Given the description of an element on the screen output the (x, y) to click on. 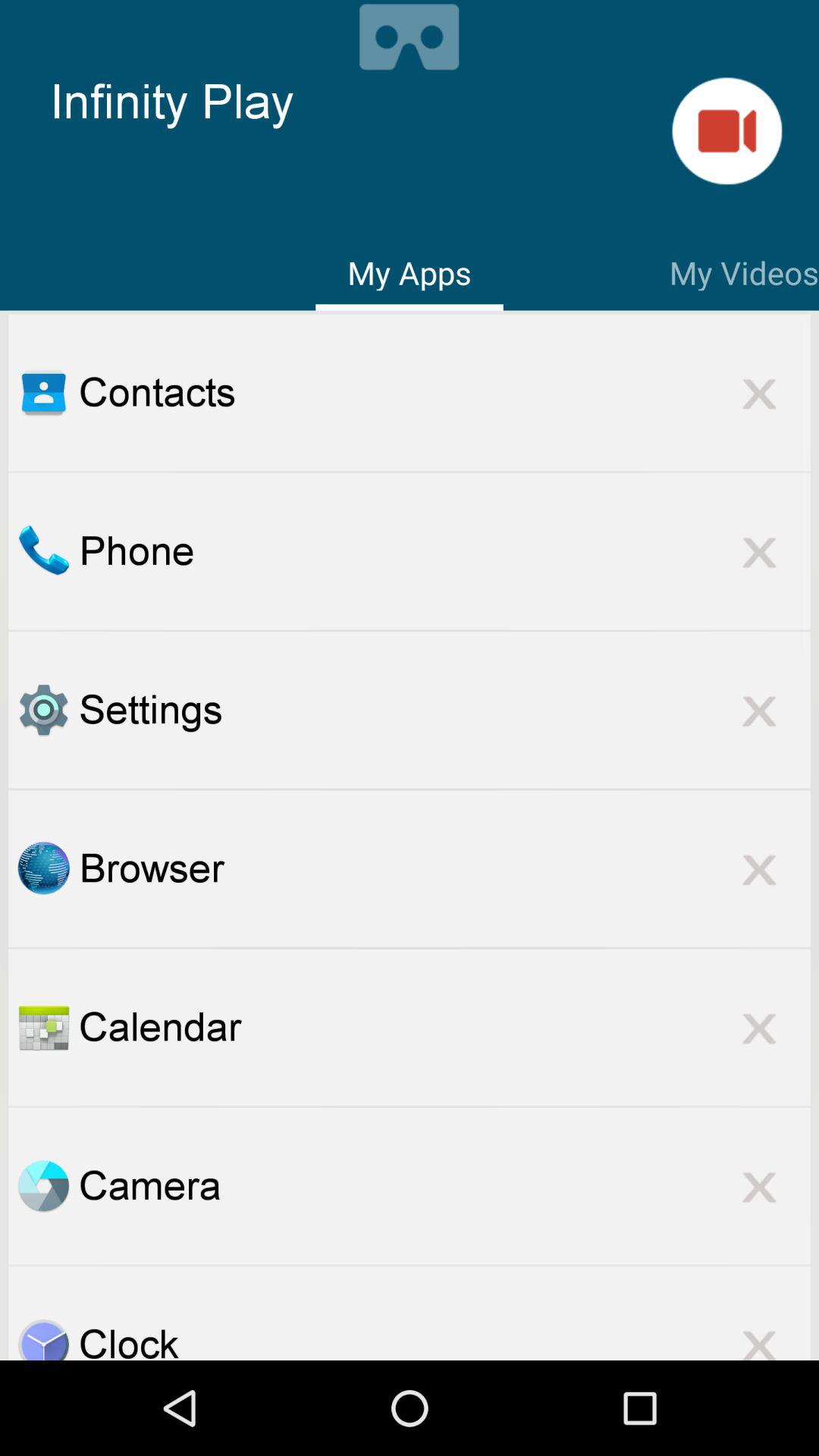
my videos (726, 130)
